Given the description of an element on the screen output the (x, y) to click on. 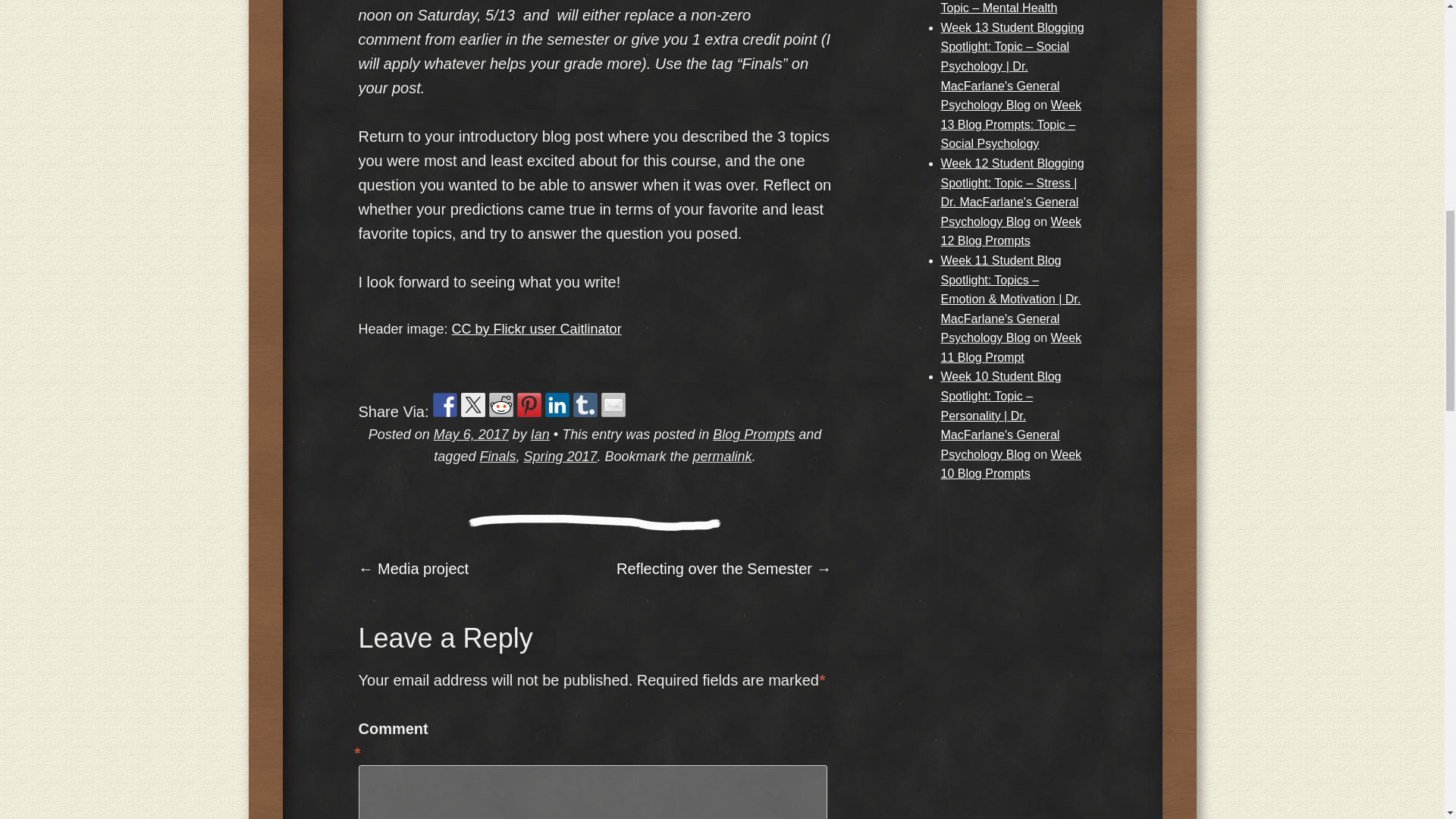
Spring 2017 (559, 456)
permalink (722, 456)
Share on Linkedin (556, 404)
Finals (497, 456)
Blog Prompts (753, 434)
Pin it with Pinterest (528, 404)
May 6, 2017 (470, 434)
Share on Facebook (444, 404)
Share on Twitter (472, 404)
Share on tumblr (584, 404)
